Given the description of an element on the screen output the (x, y) to click on. 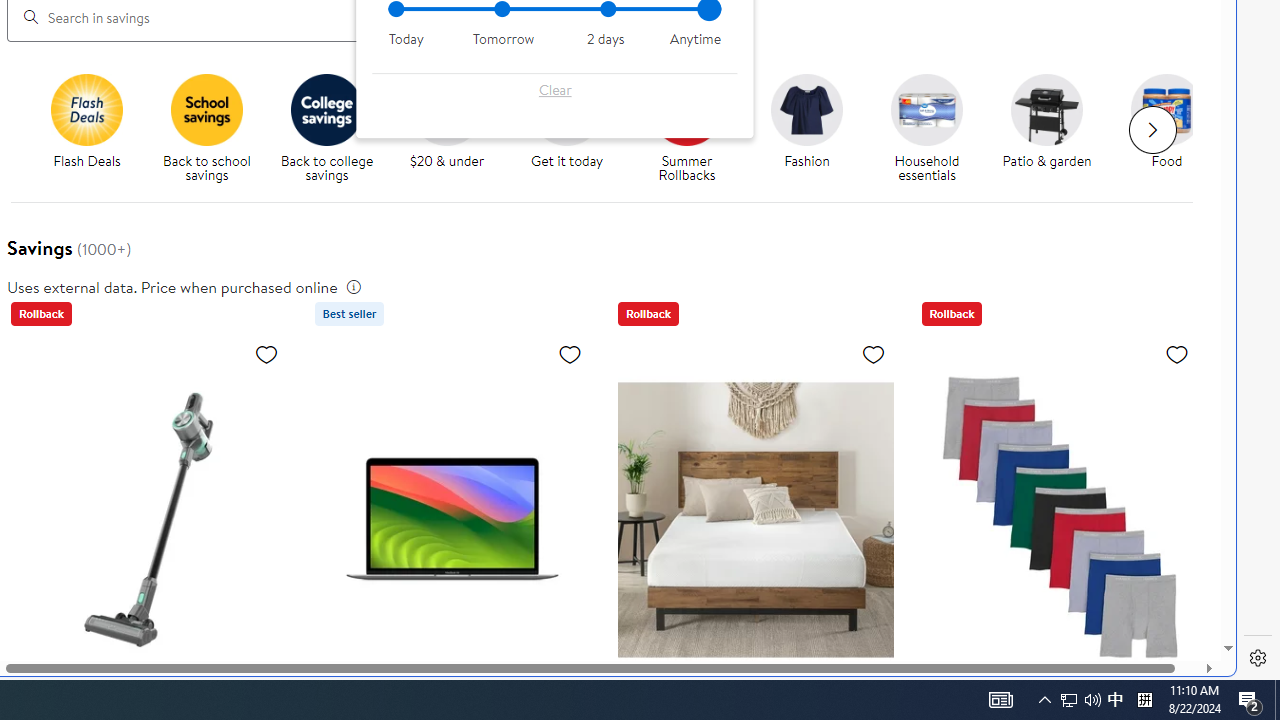
Back to College savings (326, 109)
Get it today (574, 128)
Household essentials (926, 109)
$20 and under $20 & under (447, 122)
Fashion Fashion (806, 122)
Next slide for chipModuleWithImages list (1152, 129)
$20 & under (454, 128)
Patio & garden (1054, 128)
